Given the description of an element on the screen output the (x, y) to click on. 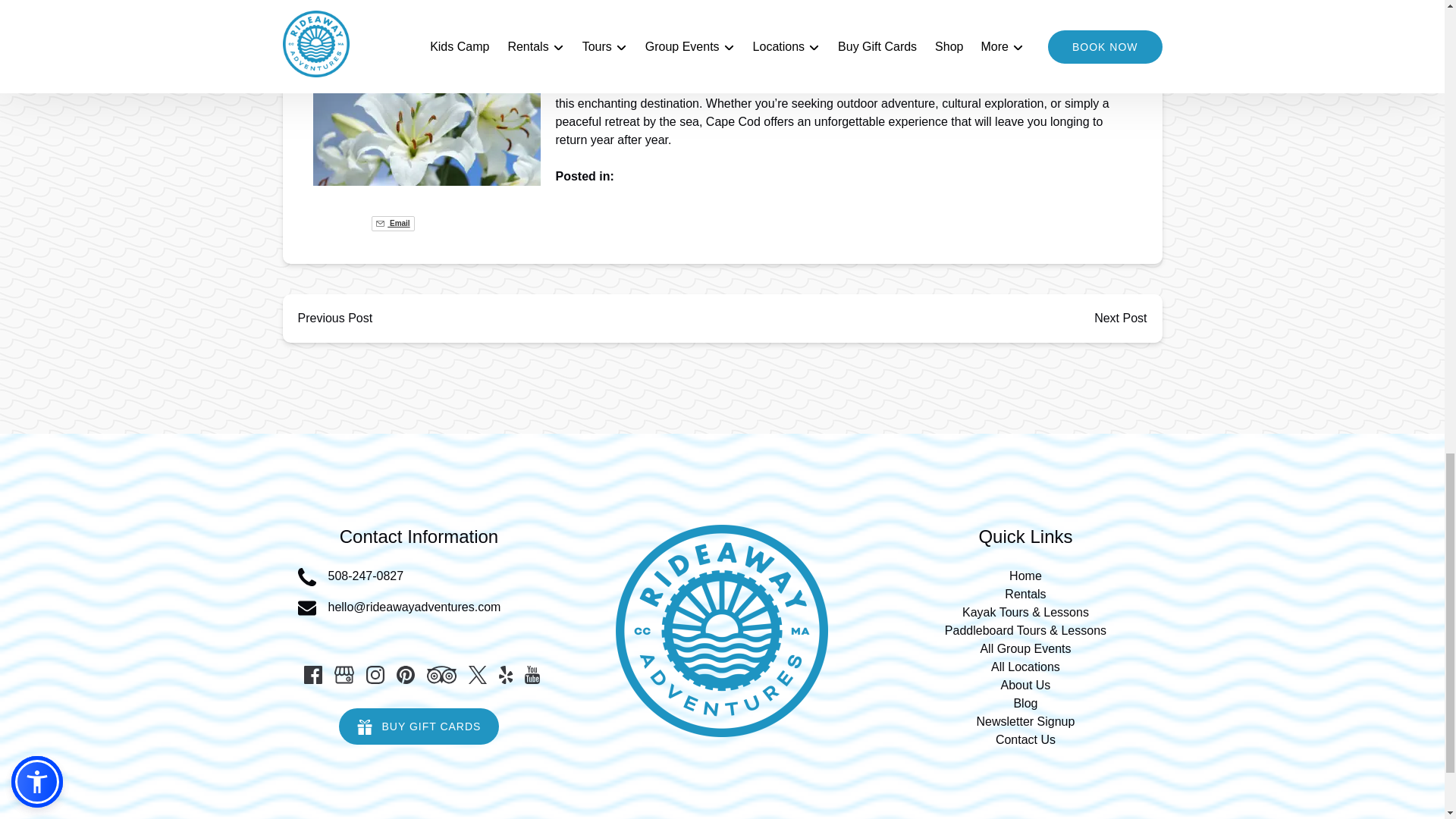
GIFT (364, 726)
Envelope (306, 607)
Phone (306, 577)
